Given the description of an element on the screen output the (x, y) to click on. 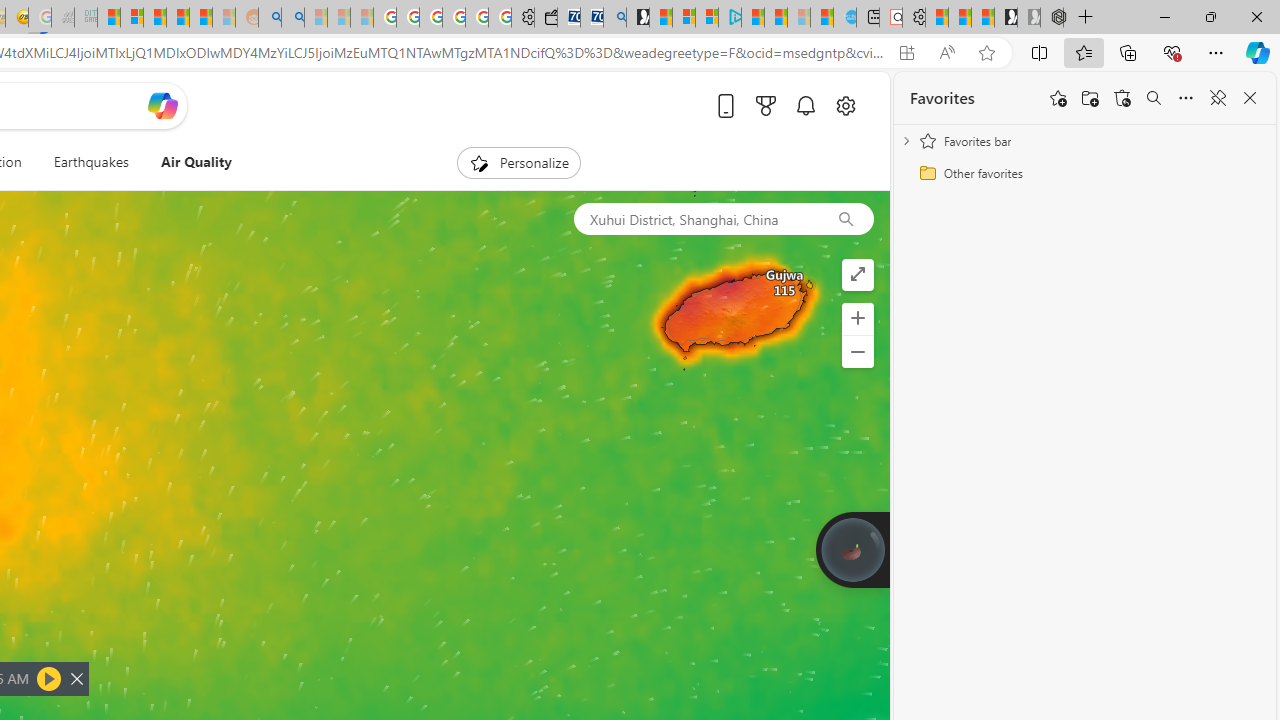
Restore deleted favorites (1122, 98)
Microsoft Start - Sleeping (799, 17)
Earthquakes (90, 162)
Play Free Online Games | Games from Microsoft Start (1005, 17)
Close favorites (1250, 98)
Air Quality (195, 162)
Notifications (804, 105)
Home | Sky Blue Bikes - Sky Blue Bikes (845, 17)
Search favorites (1153, 98)
